Given the description of an element on the screen output the (x, y) to click on. 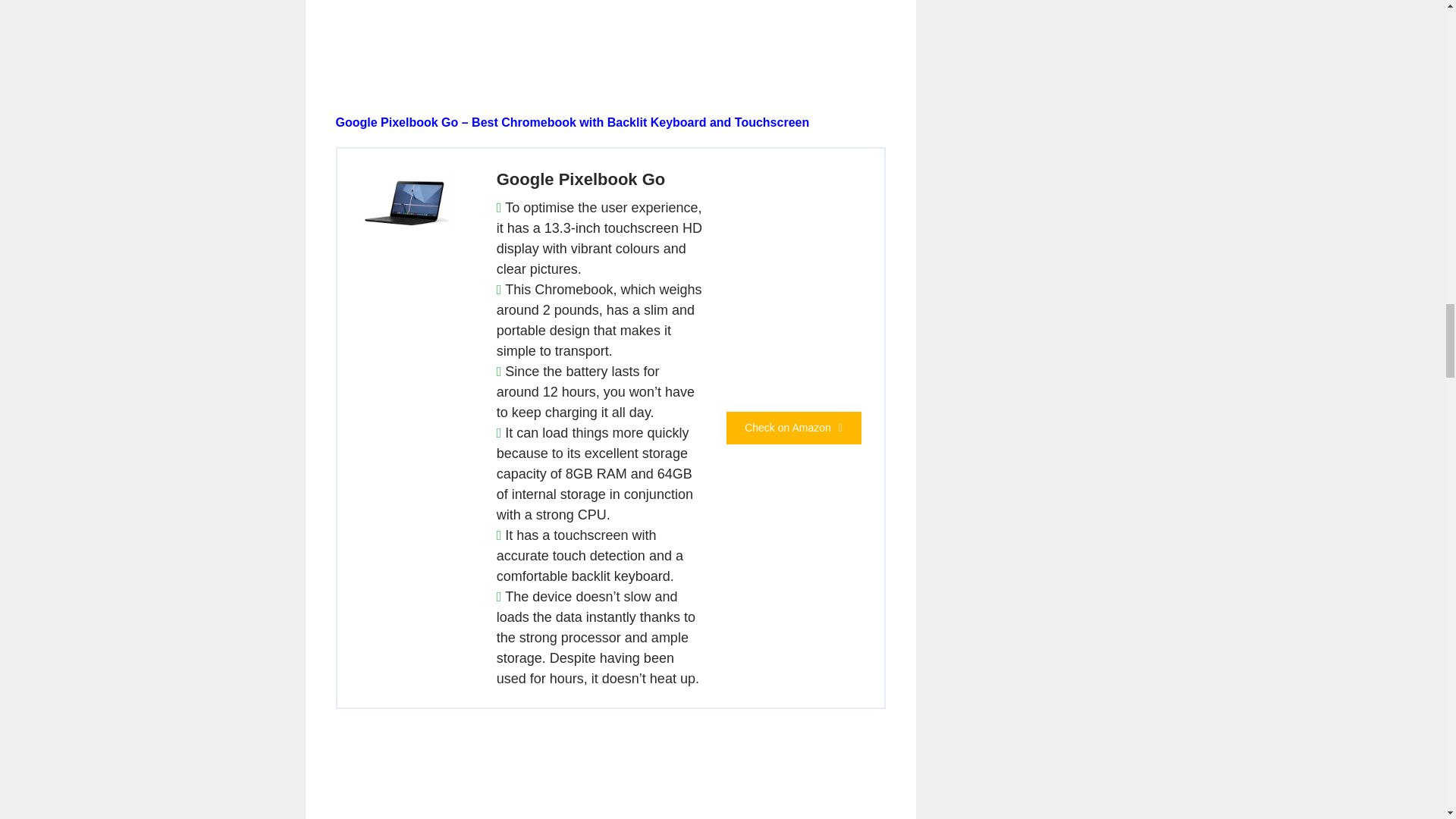
Check on Amazon (793, 427)
Advertisement (609, 36)
